Given the description of an element on the screen output the (x, y) to click on. 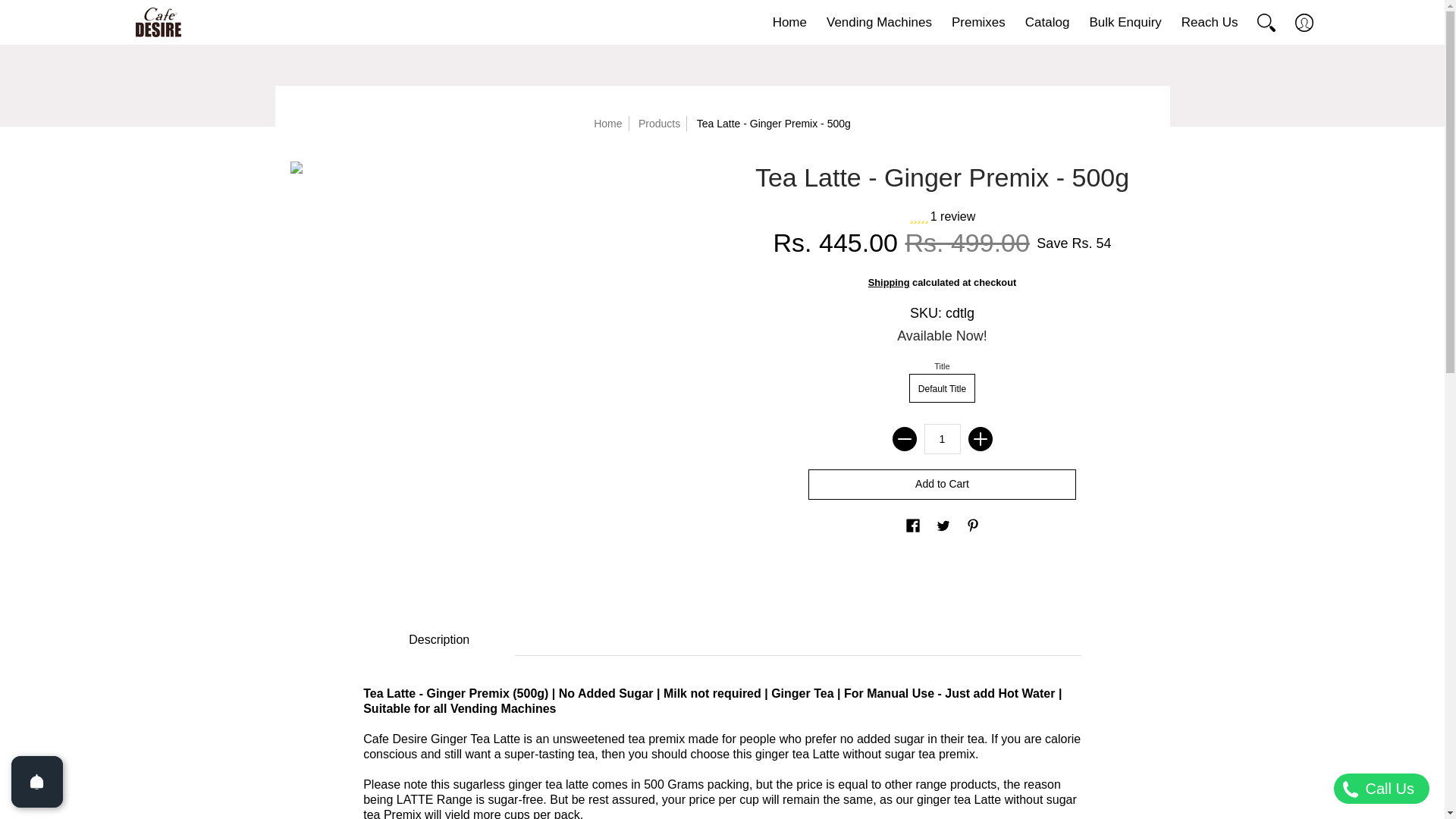
Premixes (976, 22)
Reach Us (1207, 22)
1 (941, 439)
Home (607, 123)
Catalog (1045, 22)
Home (786, 22)
Shipping (888, 282)
Cafe Desire (151, 22)
Add to Cart (941, 484)
Vending Machines (876, 22)
Vending Machines (876, 22)
Bulk Enquiry (1123, 22)
Home (786, 22)
Products (659, 123)
Catalog (1045, 22)
